Given the description of an element on the screen output the (x, y) to click on. 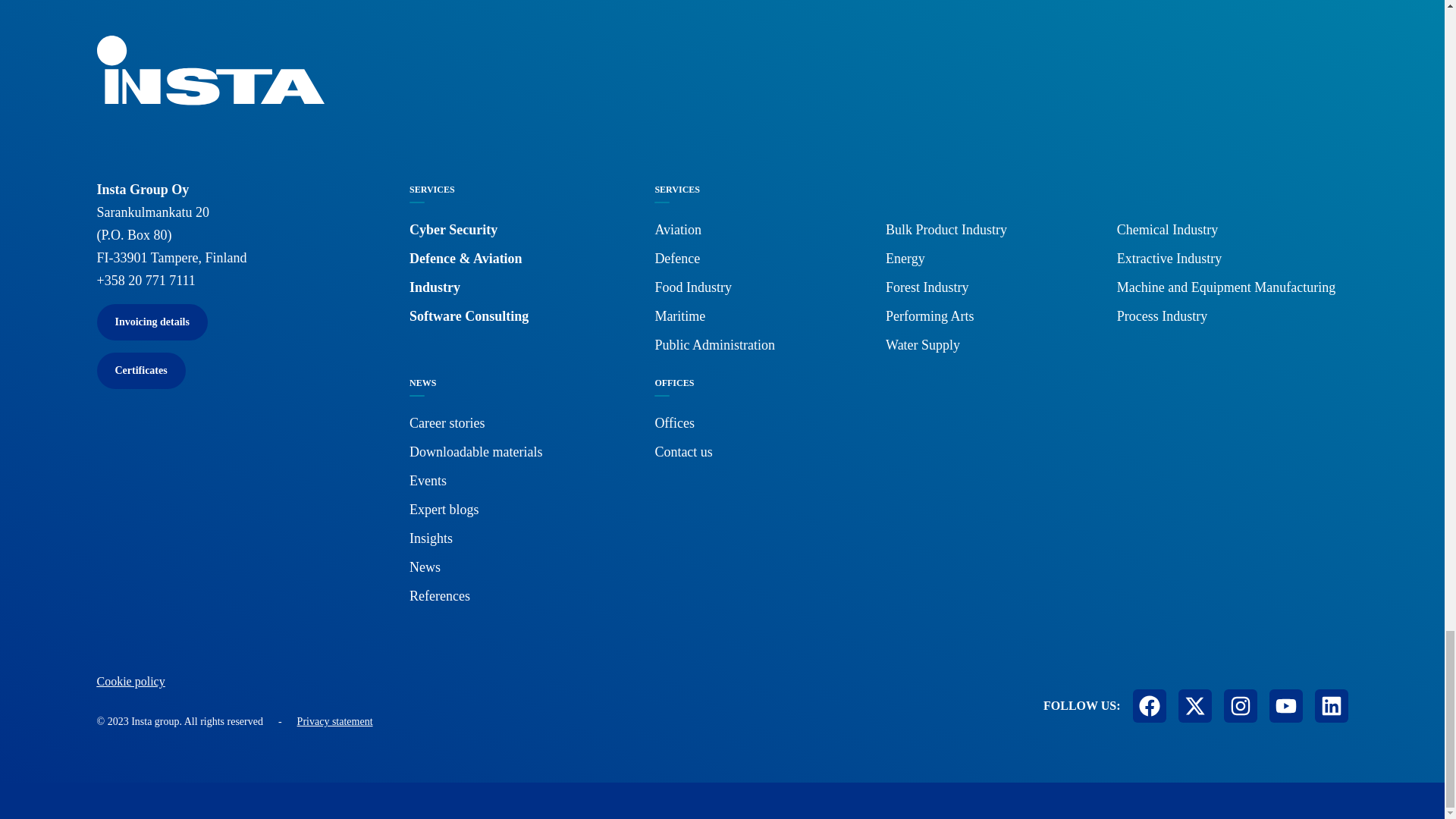
Cyber Security (453, 229)
Certificates (141, 370)
Invoicing details (152, 321)
